Given the description of an element on the screen output the (x, y) to click on. 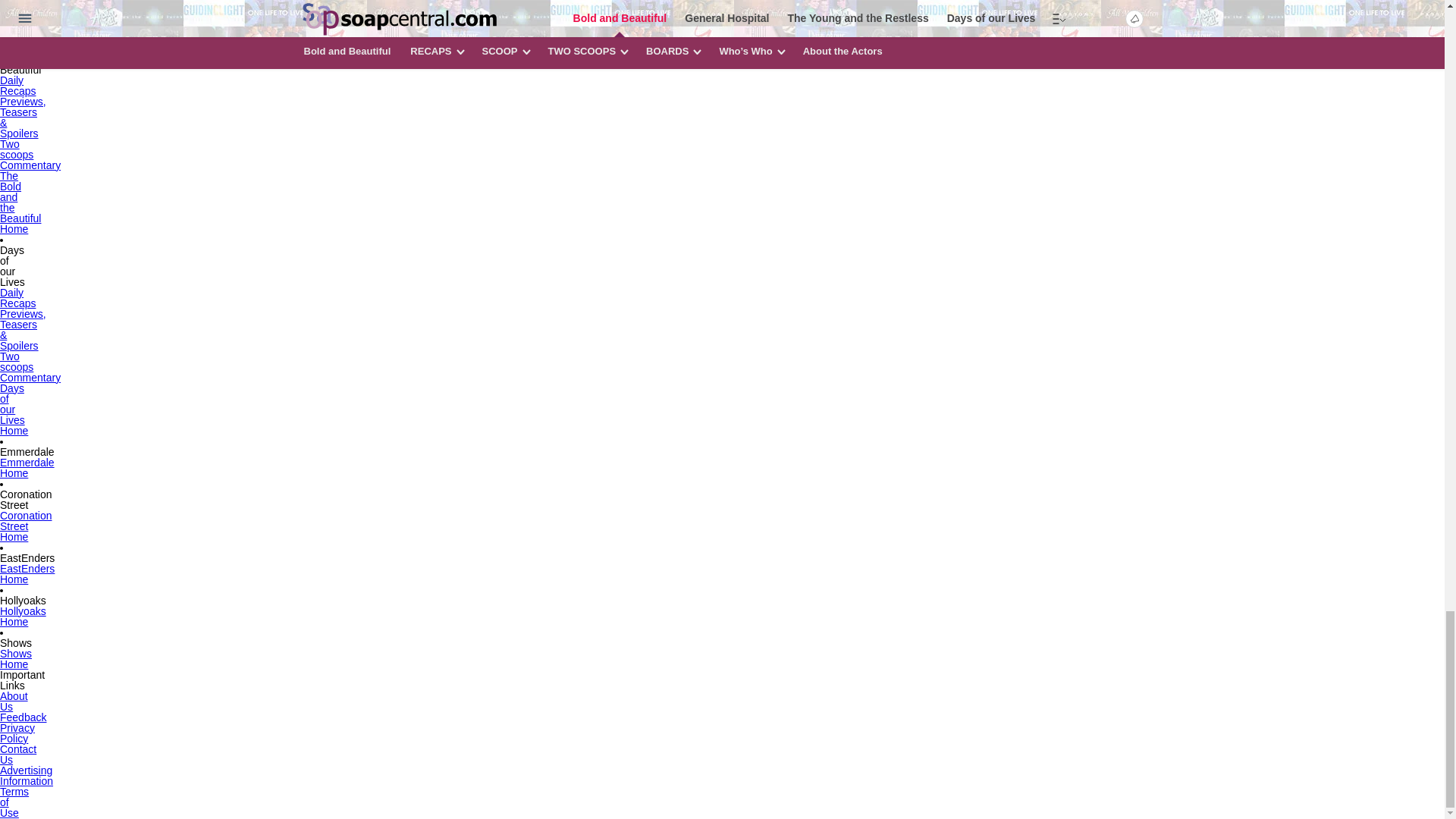
Feedback (23, 716)
Contact Us (18, 753)
Privacy Policy (17, 732)
Advertising Information (26, 774)
About Us (13, 700)
